Given the description of an element on the screen output the (x, y) to click on. 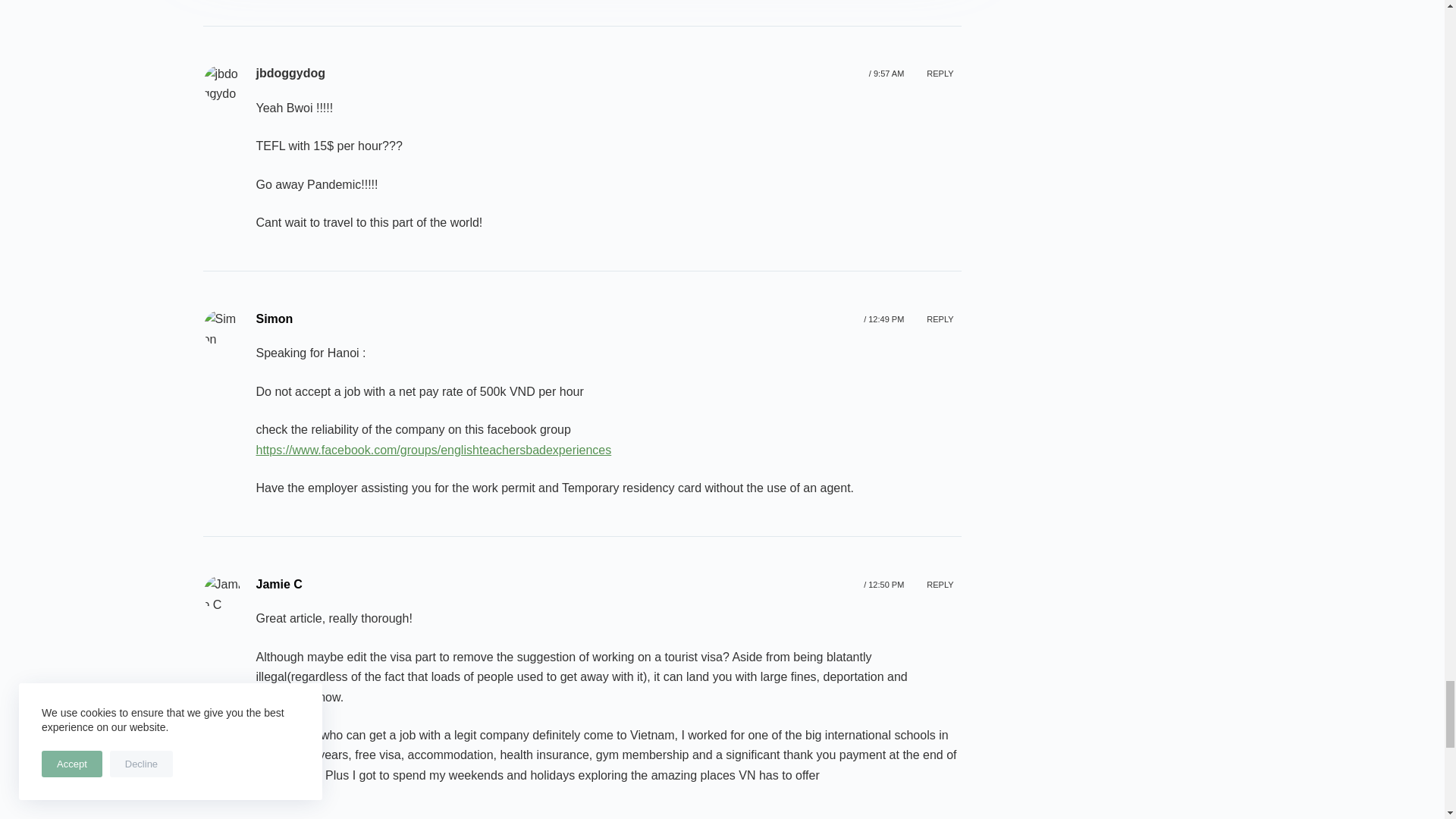
Simon (222, 328)
jbdoggydog (222, 83)
